Given the description of an element on the screen output the (x, y) to click on. 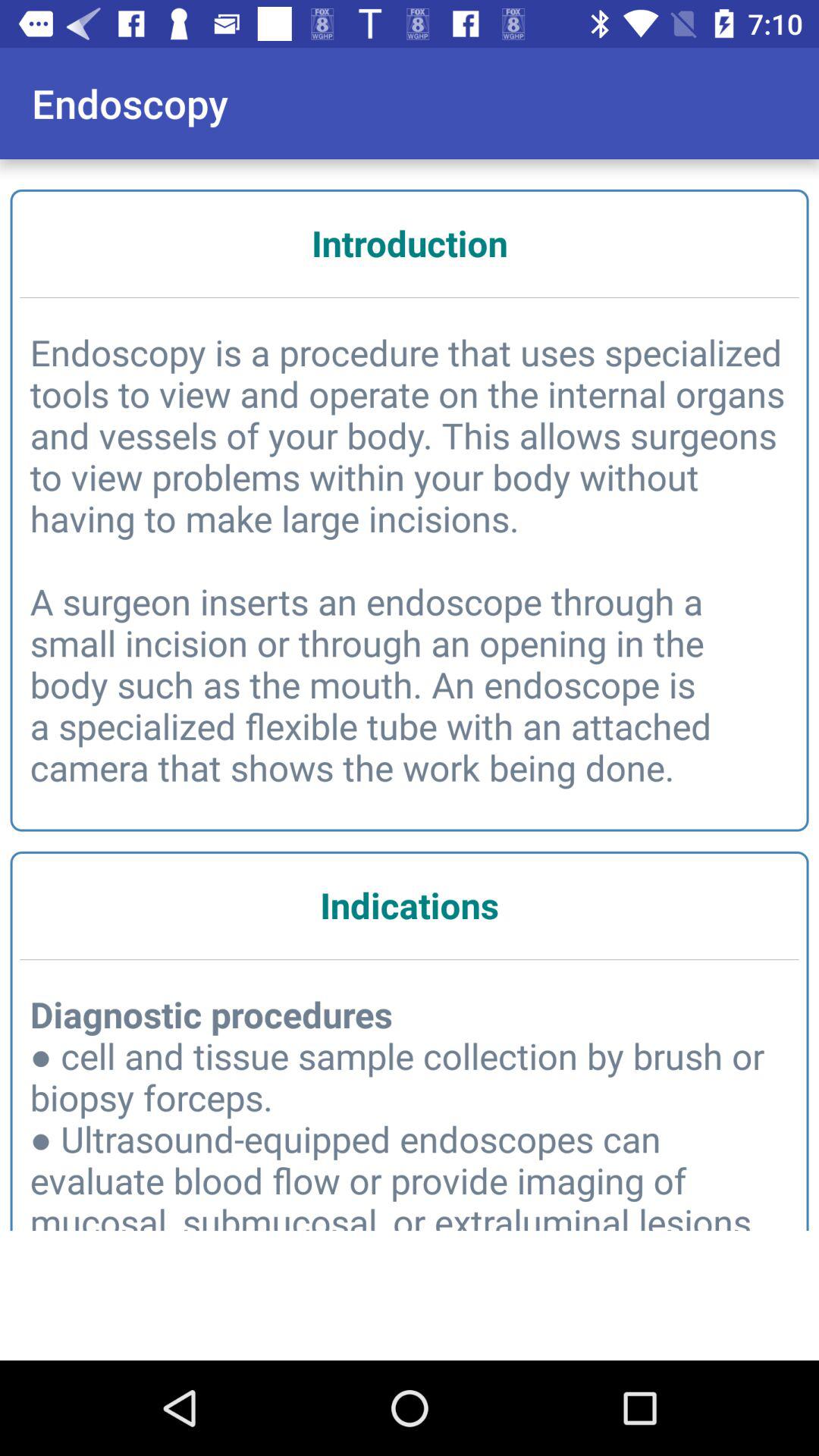
flip until the indications (409, 904)
